Given the description of an element on the screen output the (x, y) to click on. 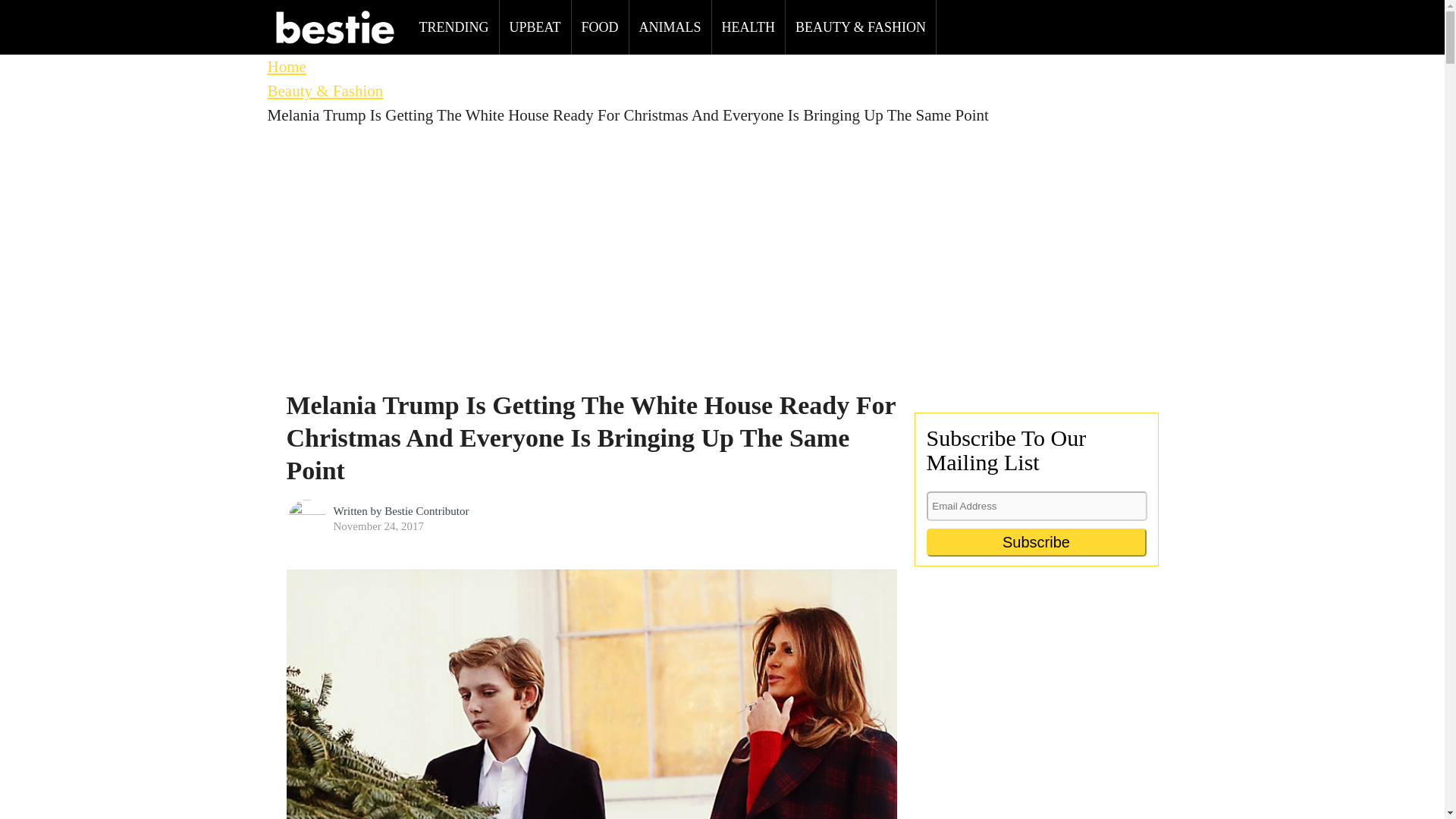
HEALTH (747, 27)
FOOD (600, 27)
ANIMALS (669, 27)
Subscribe (1036, 542)
UPBEAT (534, 27)
TRENDING (454, 27)
Home (285, 66)
